Given the description of an element on the screen output the (x, y) to click on. 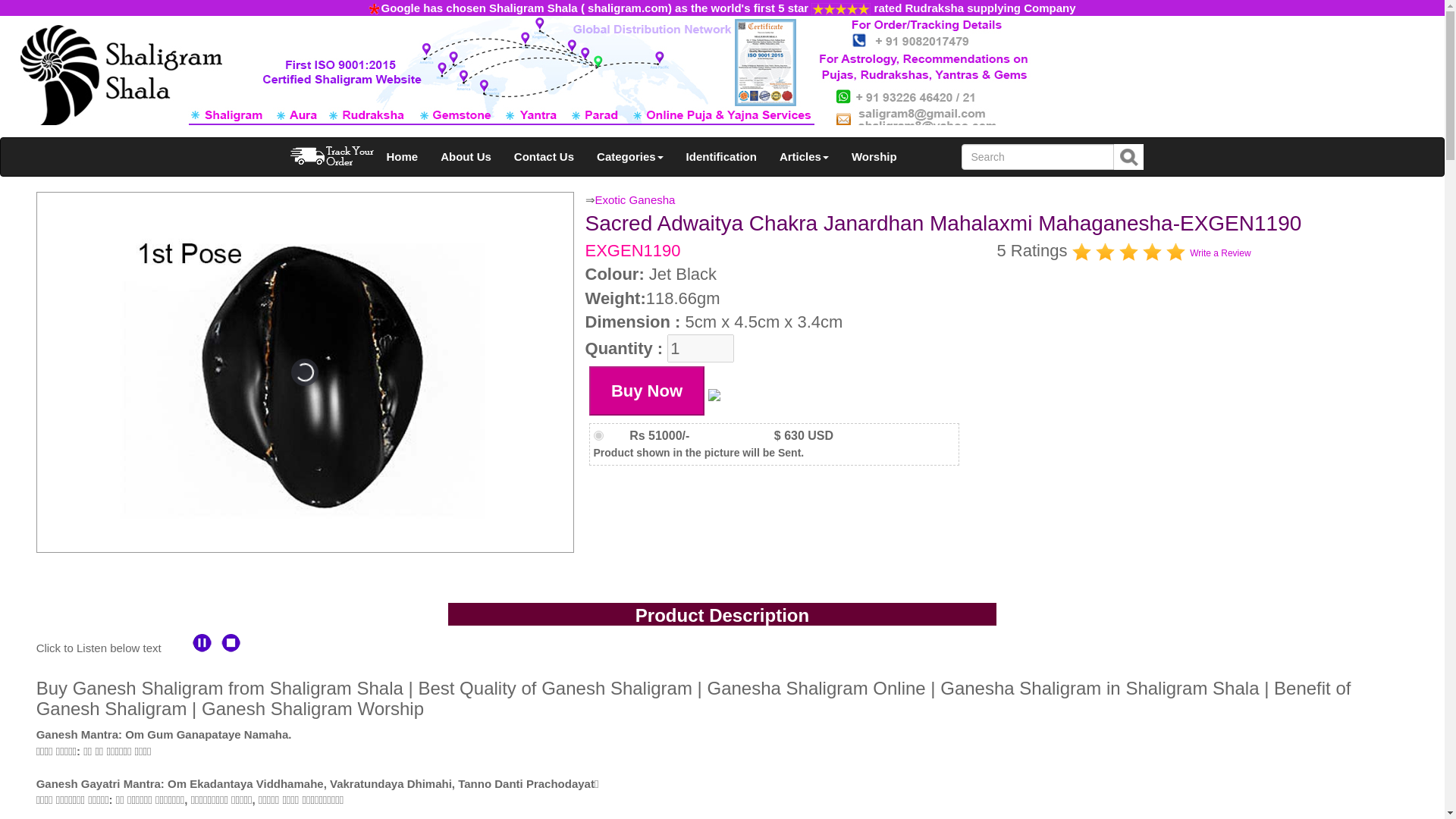
Buy Now (646, 390)
Worship (874, 157)
Articles (804, 157)
Home (401, 157)
Identification (721, 157)
Contact Us (543, 157)
About Us (465, 157)
1 (699, 348)
Categories (630, 157)
